Given the description of an element on the screen output the (x, y) to click on. 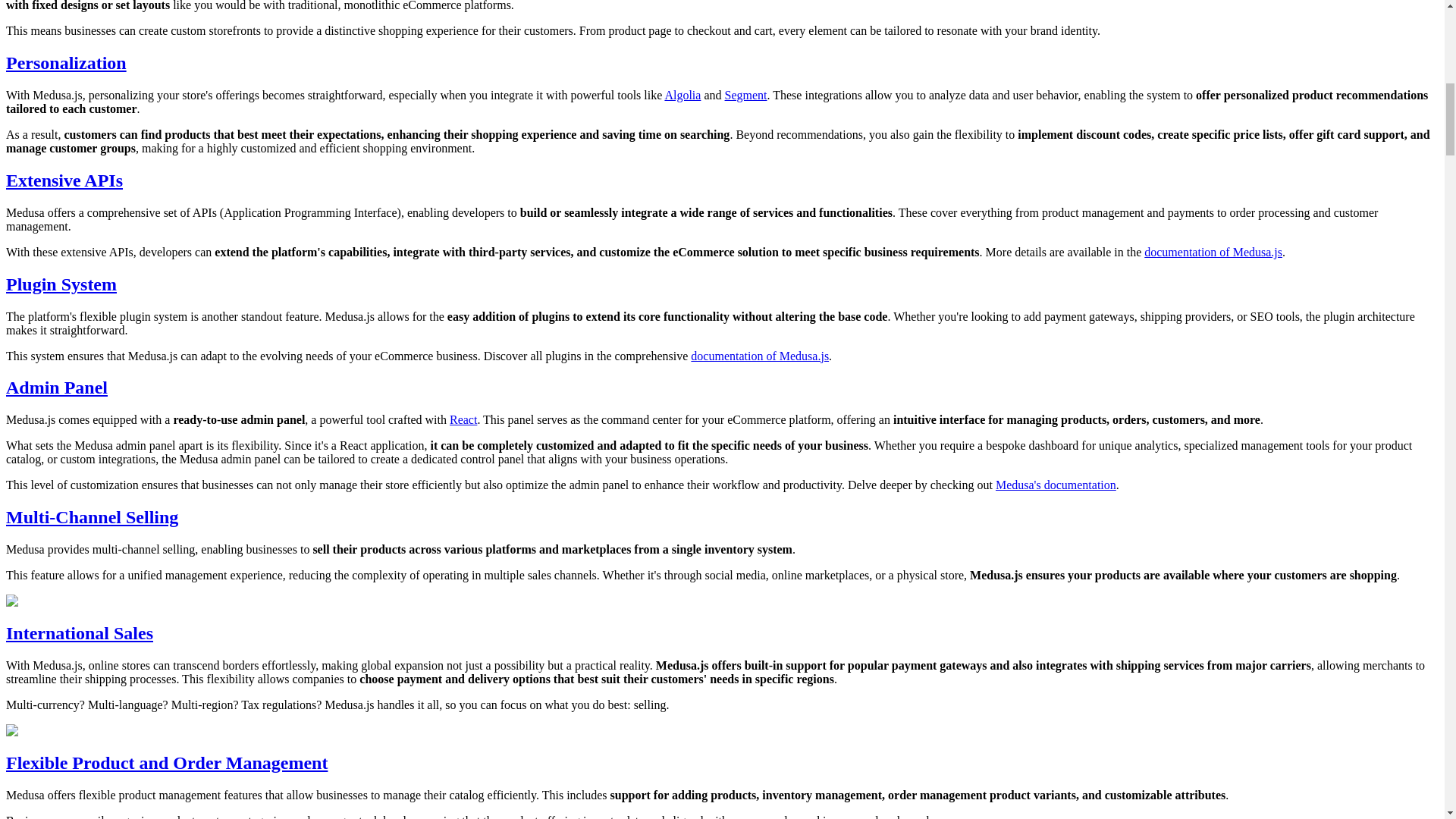
Personalization (65, 62)
Plugin System (60, 284)
Extensive APIs (63, 180)
Segment (746, 94)
International Sales (78, 632)
Medusa's documentation (1055, 484)
Admin Panel (56, 387)
React (463, 419)
documentation of Medusa.js (759, 354)
documentation of Medusa.js (1213, 251)
Algolia (681, 94)
Flexible Product and Order Management (166, 762)
Multi-Channel Selling (91, 516)
